Given the description of an element on the screen output the (x, y) to click on. 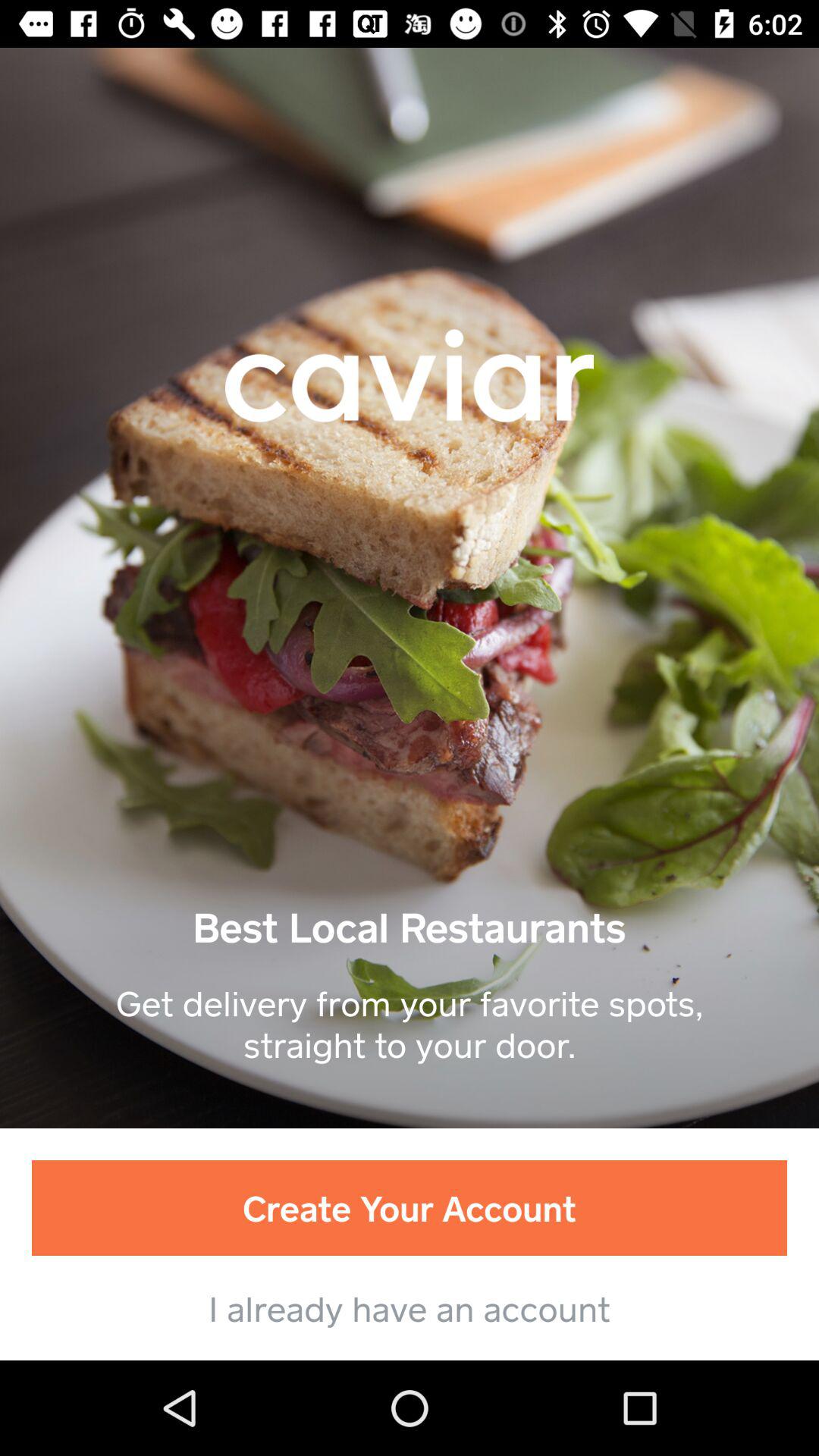
swipe to the i already have item (409, 1307)
